Given the description of an element on the screen output the (x, y) to click on. 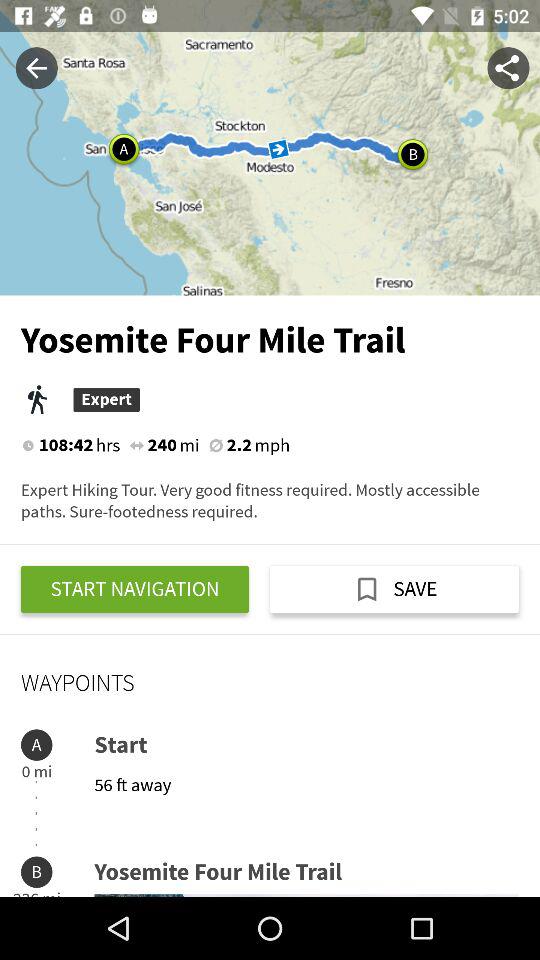
click on the icon to the left of 240mi (137, 445)
select the text b at bottom page left corner (36, 872)
